Given the description of an element on the screen output the (x, y) to click on. 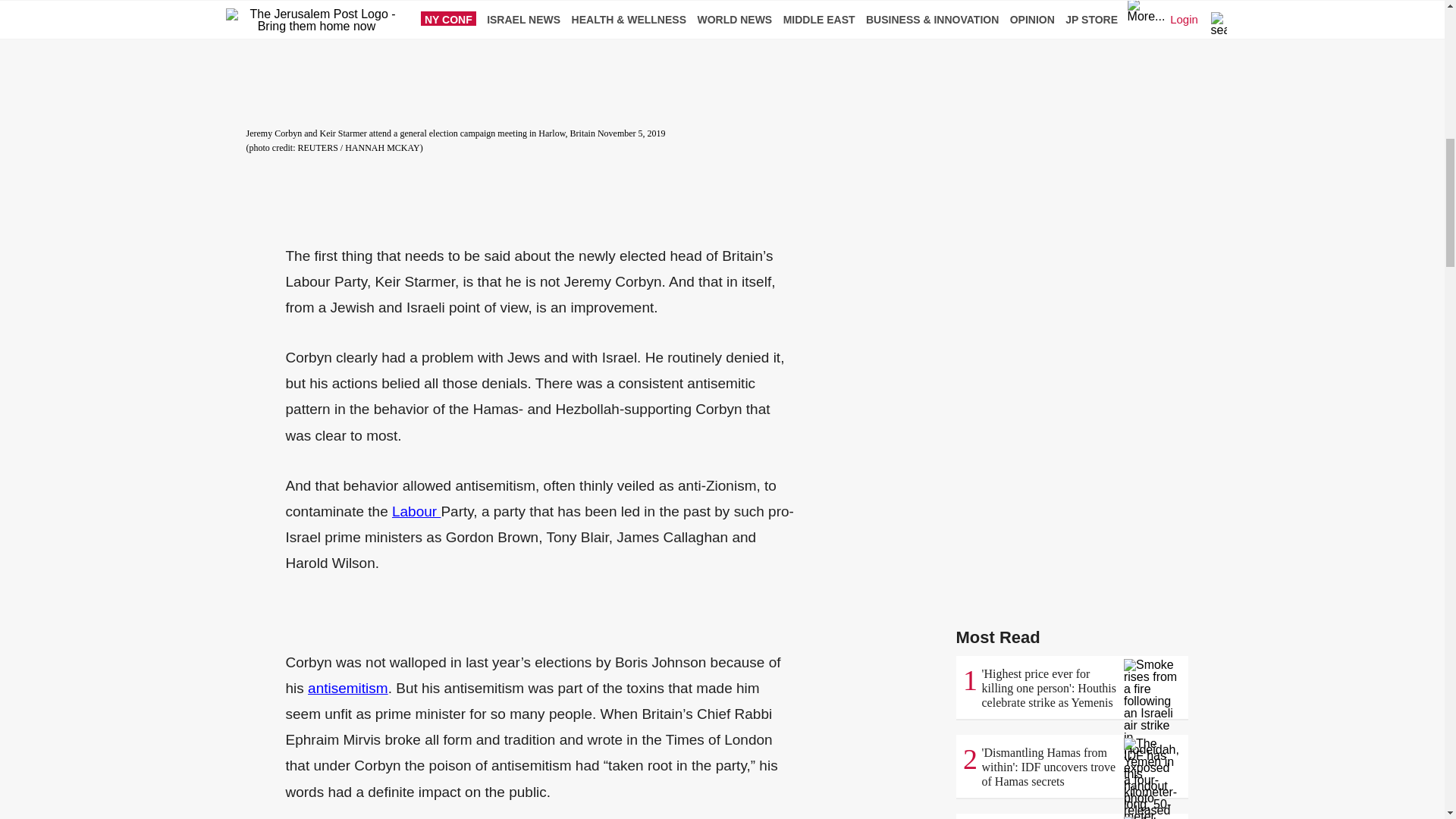
Labour (416, 511)
antisemitism (347, 688)
